Given the description of an element on the screen output the (x, y) to click on. 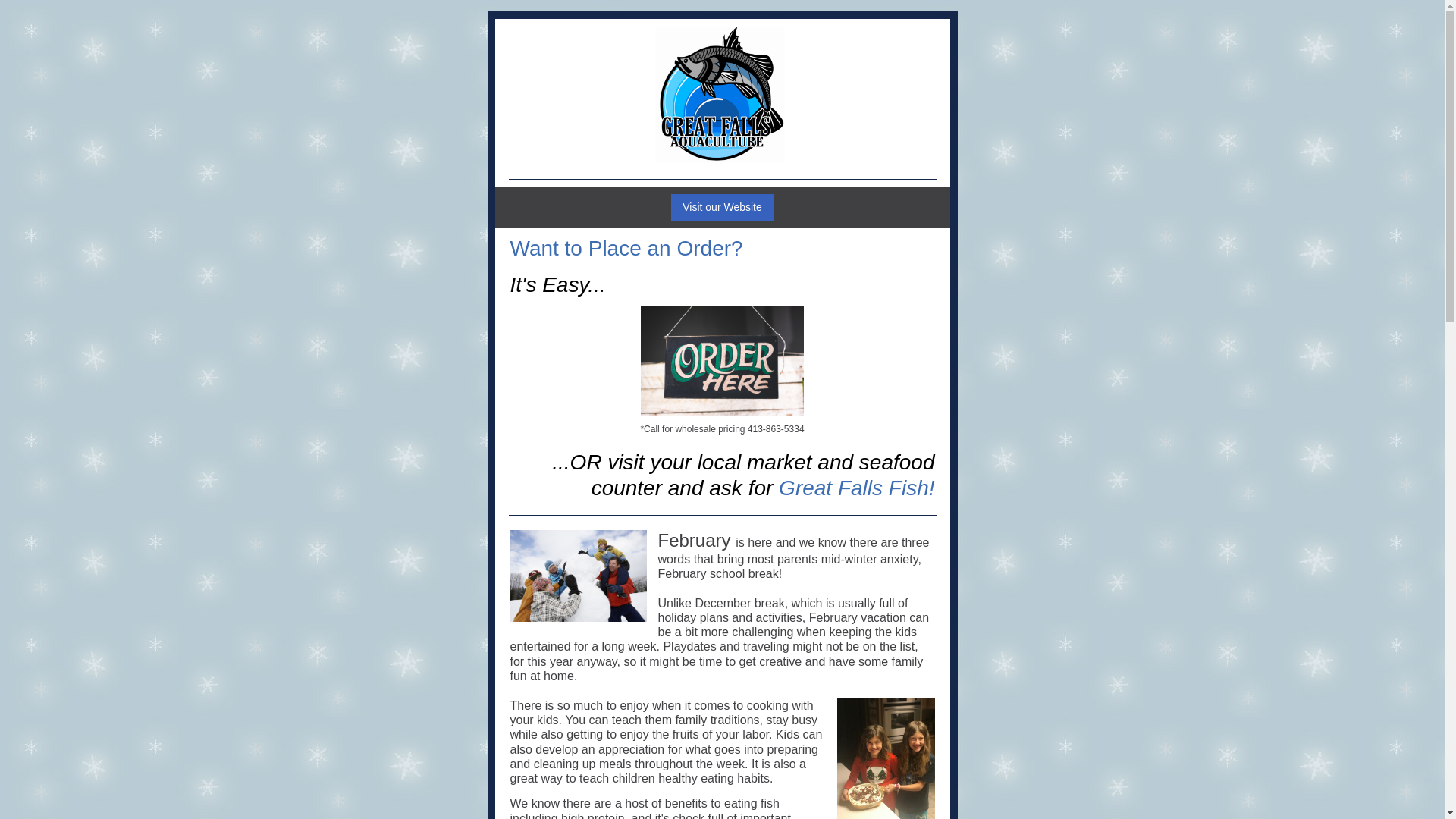
Visit our Website (721, 206)
